Given the description of an element on the screen output the (x, y) to click on. 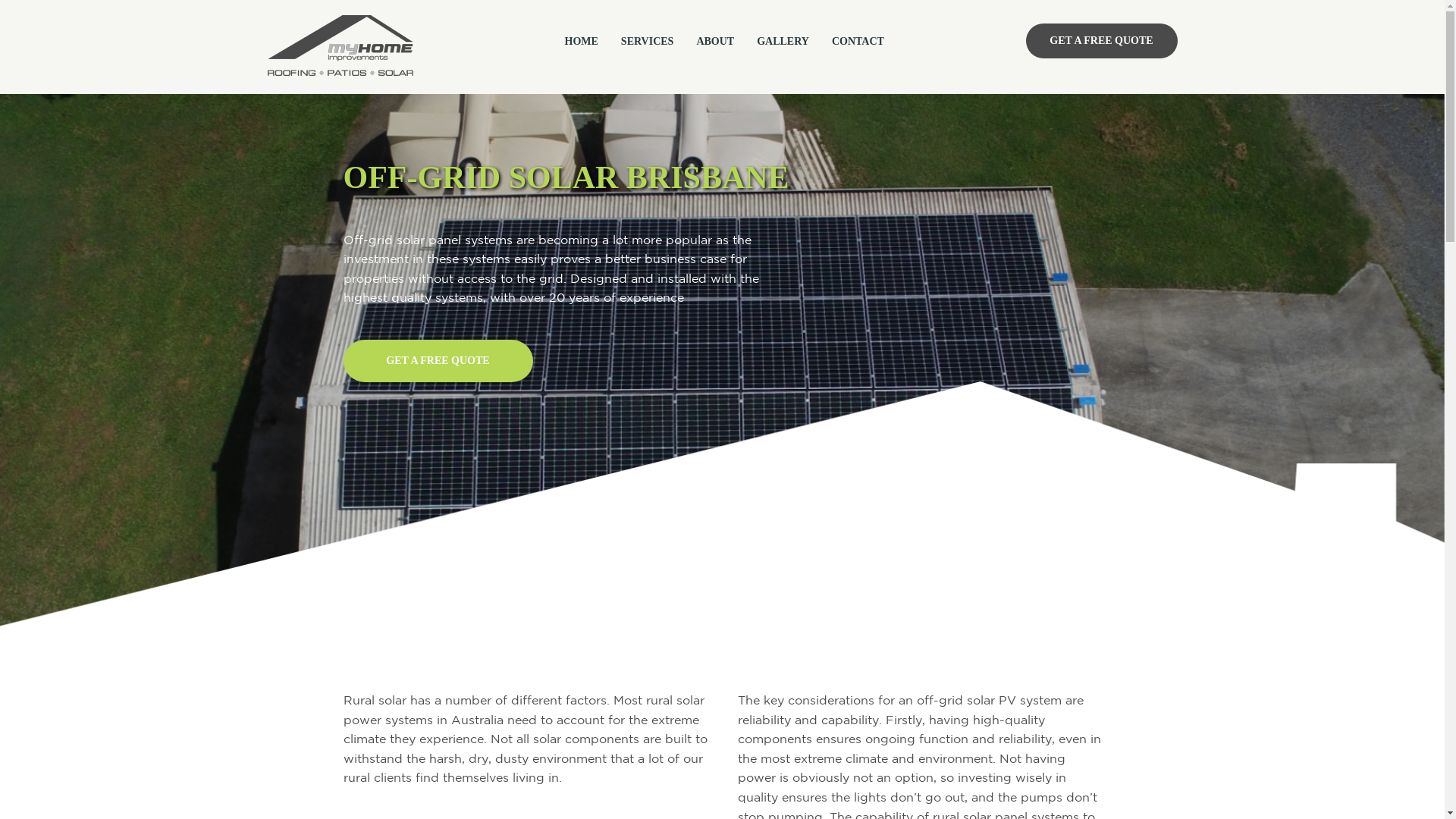
GALLERY Element type: text (793, 41)
ABOUT Element type: text (726, 41)
CONTACT Element type: text (868, 41)
GET A FREE QUOTE Element type: text (437, 360)
My Home Improvements Element type: hover (339, 45)
GET A FREE QUOTE Element type: text (1100, 40)
HOME Element type: text (592, 41)
SERVICES Element type: text (658, 41)
